Given the description of an element on the screen output the (x, y) to click on. 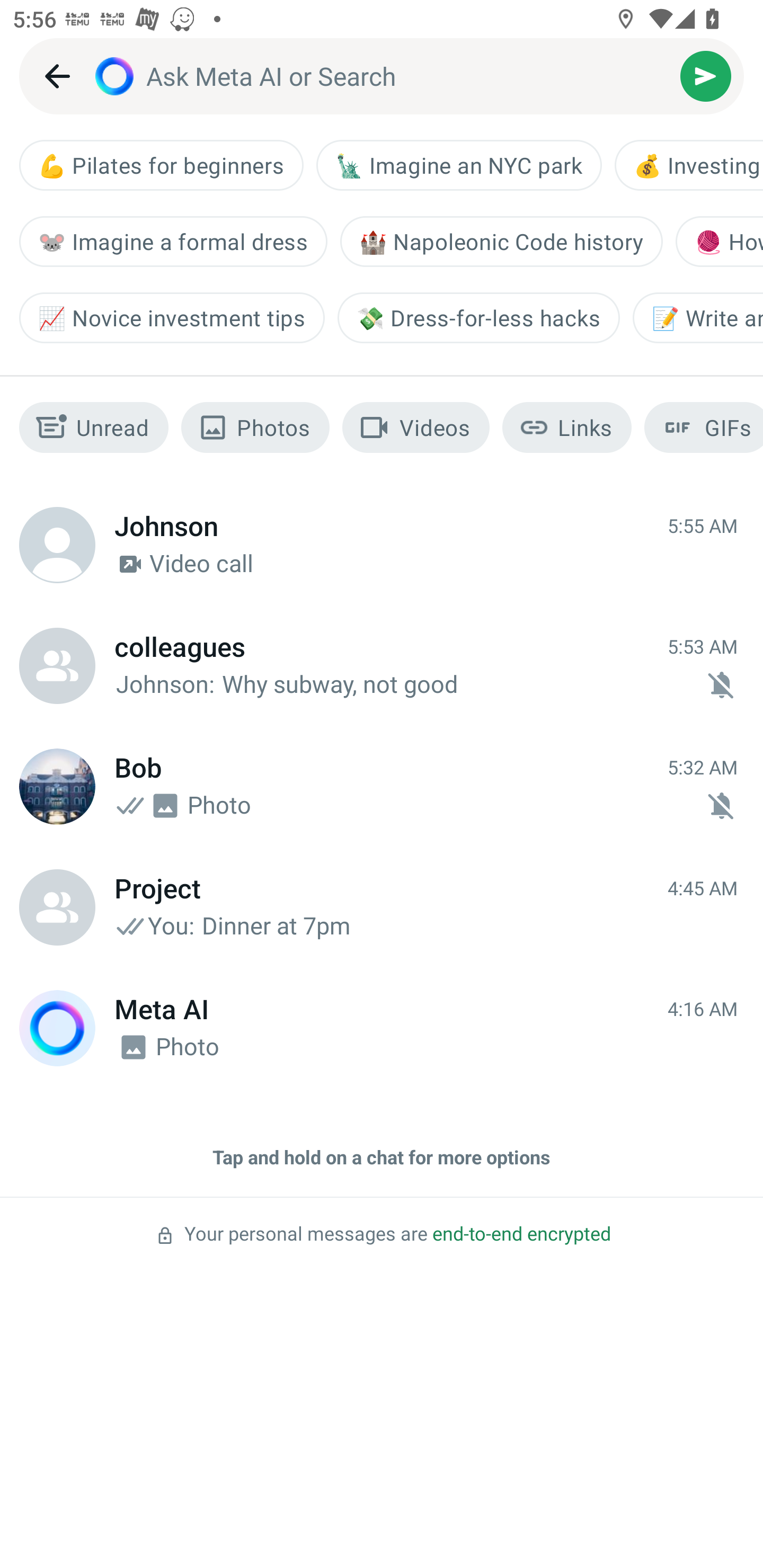
Back (57, 75)
Ask Meta AI or Search (413, 75)
Send (705, 75)
💪 Pilates for beginners (161, 165)
🗽 Imagine an NYC park (459, 165)
💰 Investing goals 101 (688, 165)
🐭 Imagine a formal dress (173, 241)
🏰 Napoleonic Code history (501, 241)
📈 Novice investment tips (172, 317)
💸 Dress-for-less hacks (478, 317)
📝 Write an ode to the '90s (697, 317)
Unread (93, 426)
Photos (255, 426)
Videos (415, 426)
Links (566, 426)
GIFs (703, 426)
Johnson Johnson 5:55 AM 5:55 AM Video call (381, 544)
Johnson (57, 544)
colleagues (57, 665)
Bob Bob 5:32 AM 5:32 AM Photo Mute notifications (381, 785)
Bob (57, 785)
Project (57, 906)
Meta AI Meta AI 4:16 AM 4:16 AM Photo (381, 1027)
Meta AI (57, 1027)
end-to-end encrypted (521, 1233)
